Given the description of an element on the screen output the (x, y) to click on. 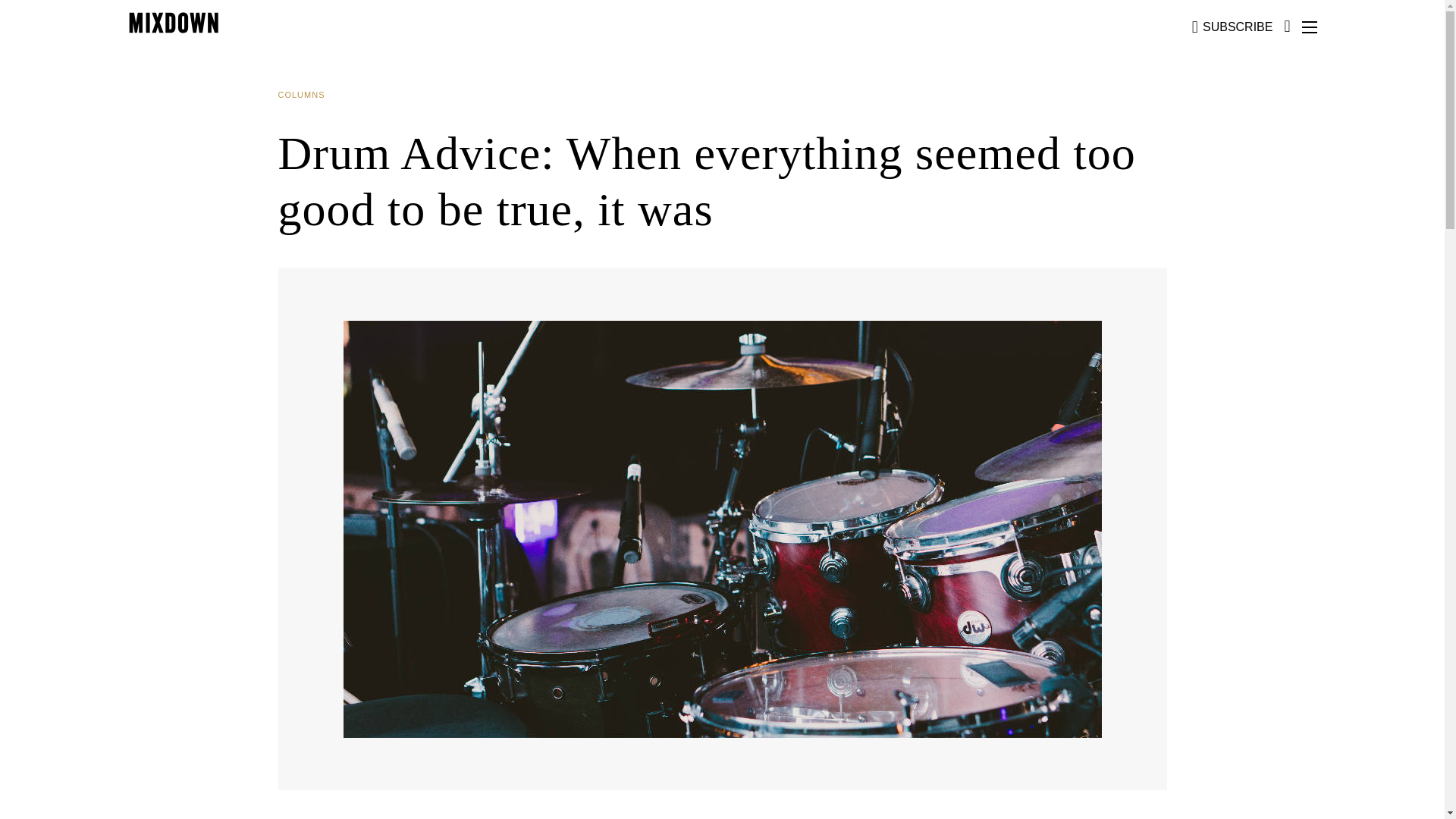
COLUMNS (307, 94)
